Given the description of an element on the screen output the (x, y) to click on. 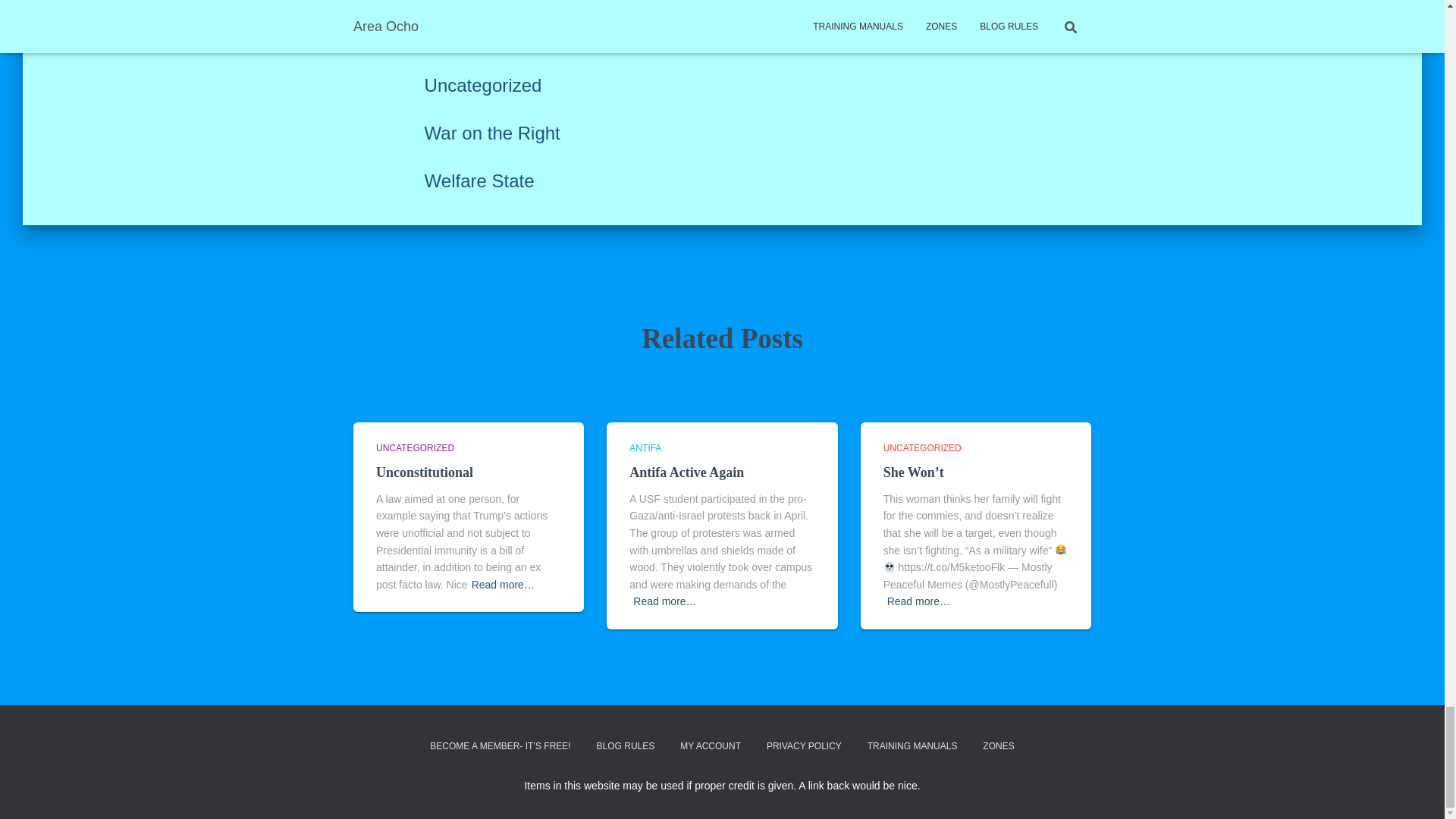
View all posts in Uncategorized (414, 448)
View all posts in Uncategorized (921, 448)
Antifa Active Again (686, 472)
Unconstitutional (424, 472)
View all posts in Antifa (644, 448)
